Given the description of an element on the screen output the (x, y) to click on. 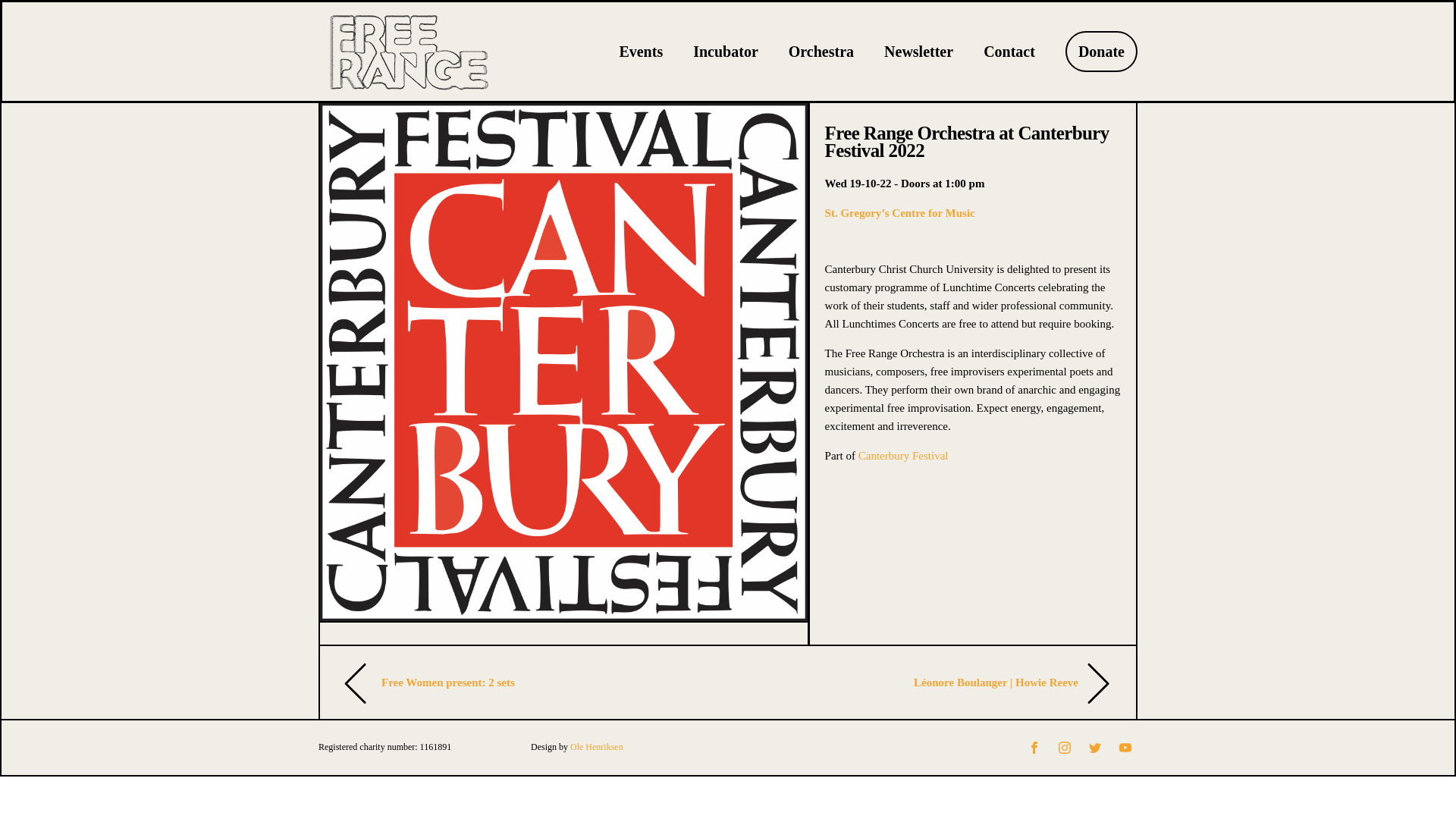
Newsletter (918, 51)
Incubator (725, 51)
Contact (1009, 51)
Donate (1101, 51)
Canterbury Festival (904, 455)
Orchestra (821, 51)
Free Women present: 2 sets (448, 682)
Ole Henriksen (596, 747)
Events (640, 51)
